Given the description of an element on the screen output the (x, y) to click on. 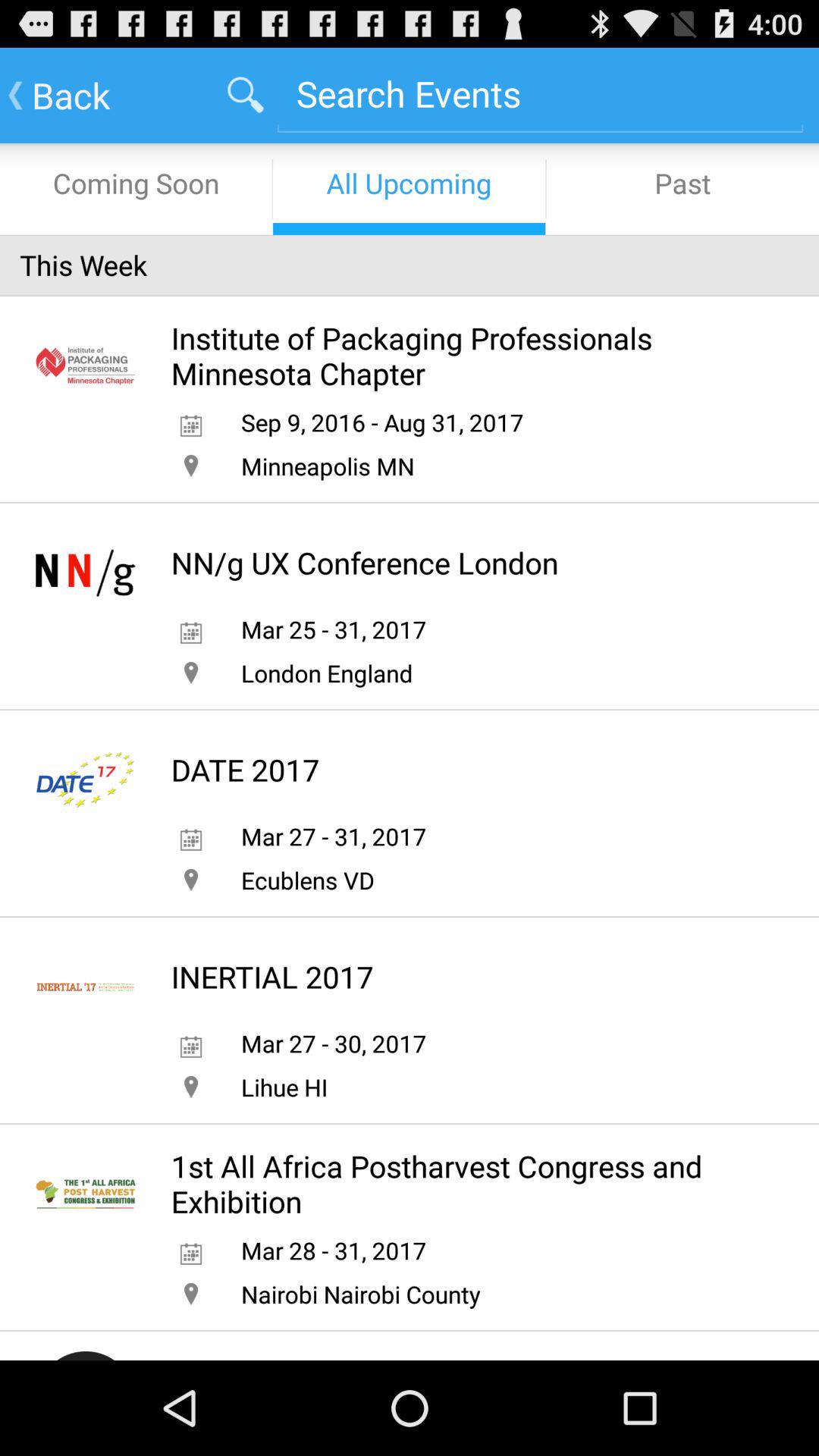
flip until the minneapolis mn (327, 465)
